Given the description of an element on the screen output the (x, y) to click on. 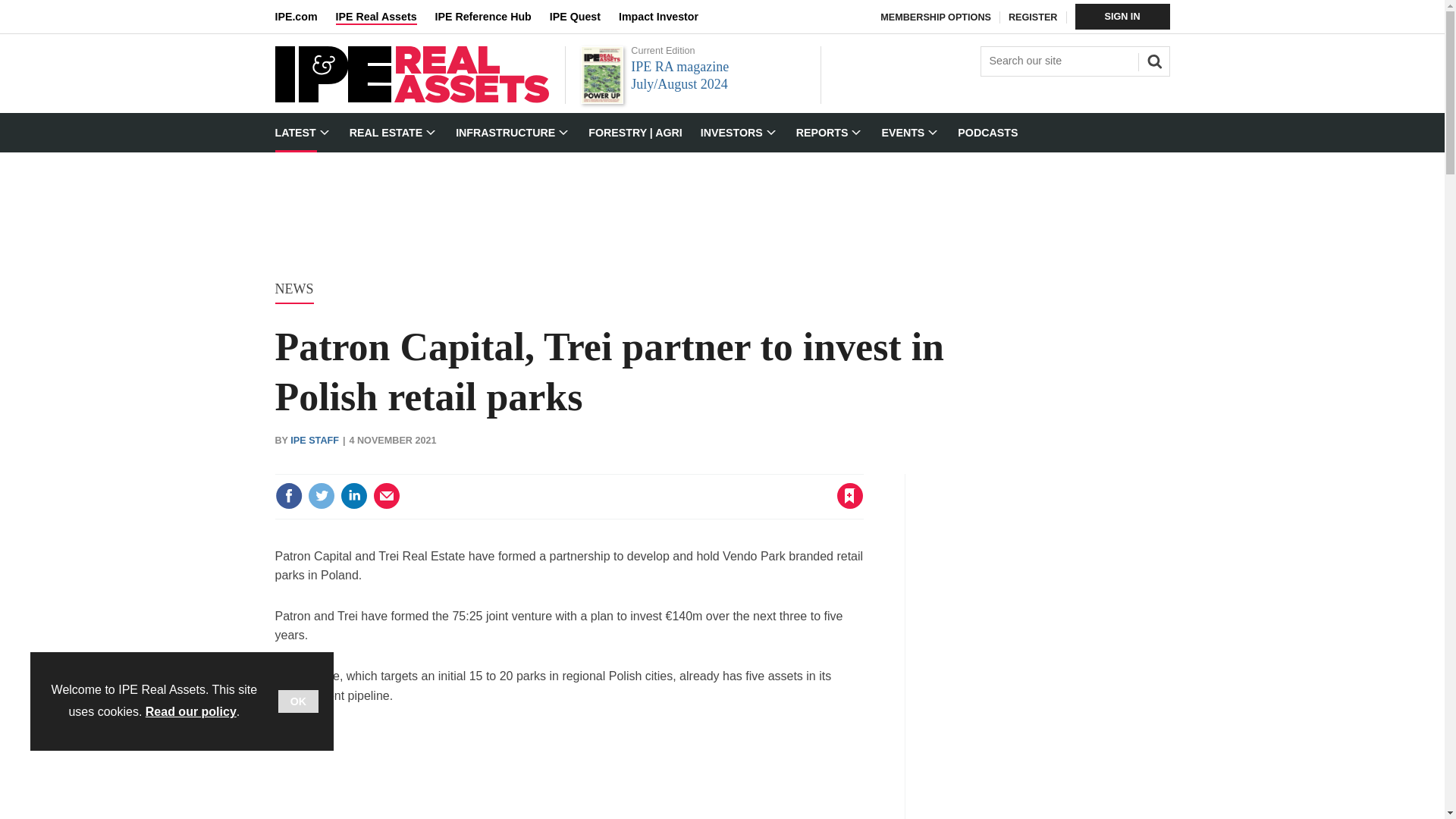
IPE Quest (583, 16)
Share this on Facebook (288, 495)
Read our policy (190, 711)
Real Assets (411, 98)
IPE Quest (583, 16)
Share this on Twitter (320, 495)
IPE Reference Hub (491, 16)
SIGN IN (1122, 16)
Share this on Linked in (352, 495)
Impact Investor (667, 16)
